Given the description of an element on the screen output the (x, y) to click on. 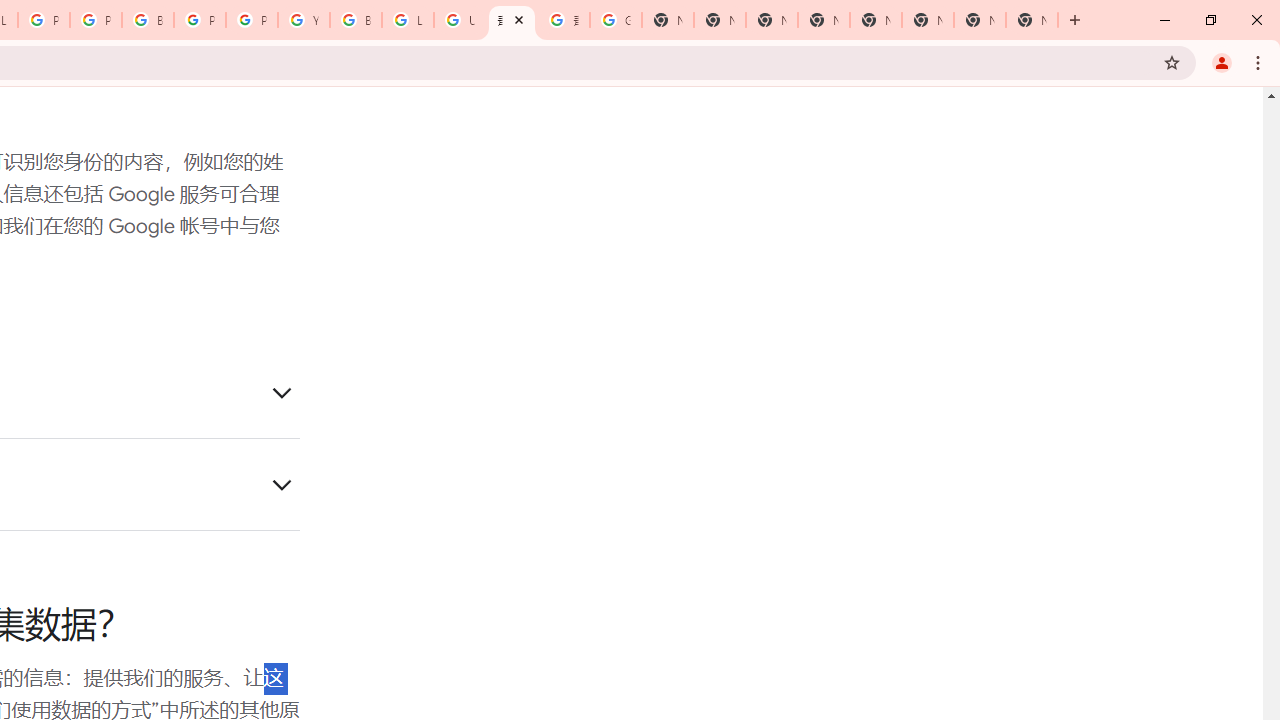
Privacy Help Center - Policies Help (43, 20)
Privacy Help Center - Policies Help (95, 20)
Google Images (616, 20)
YouTube (303, 20)
New Tab (927, 20)
